Given the description of an element on the screen output the (x, y) to click on. 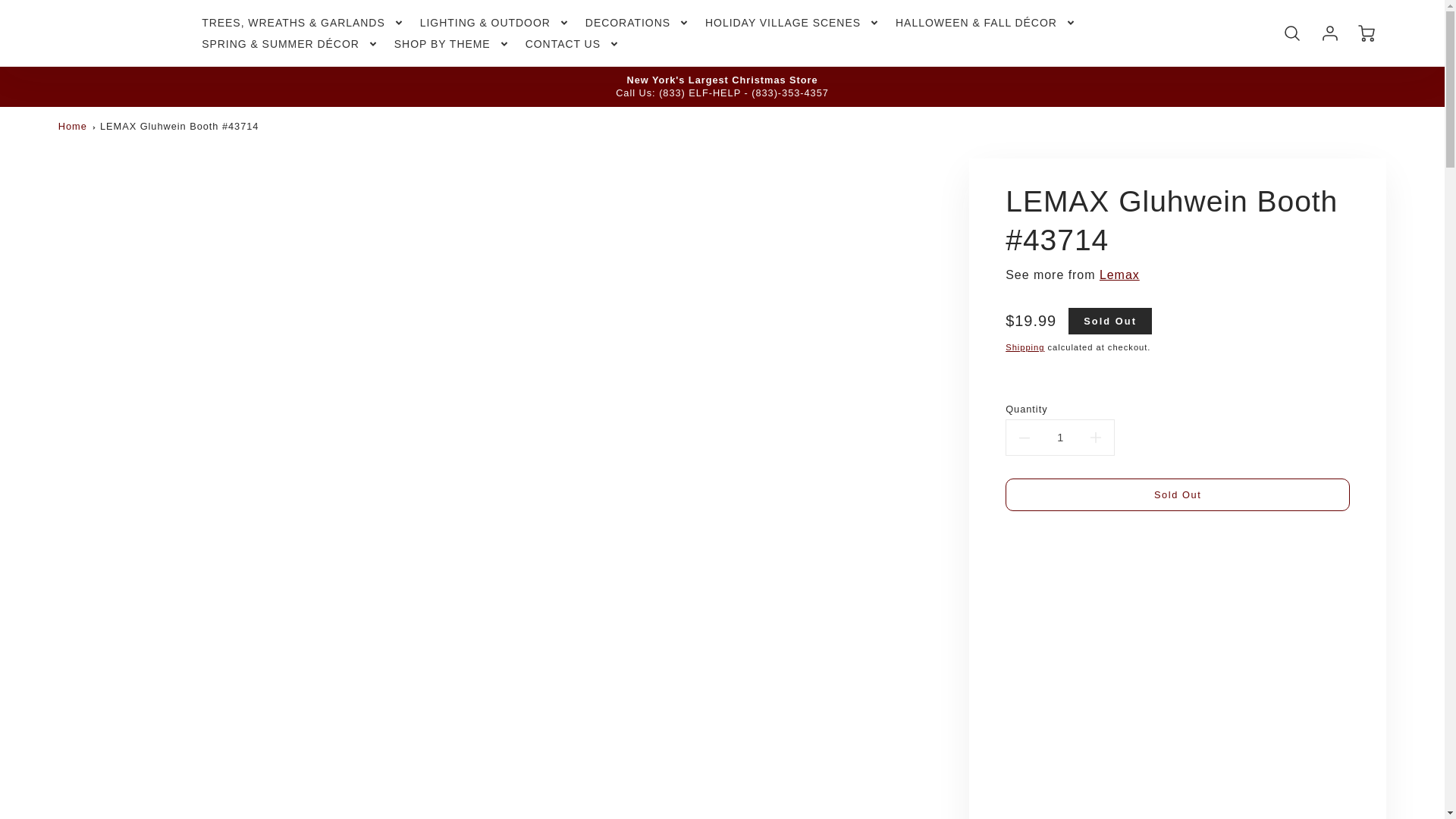
DECORATIONS (637, 22)
Lemax (1119, 274)
1 (1059, 437)
